Given the description of an element on the screen output the (x, y) to click on. 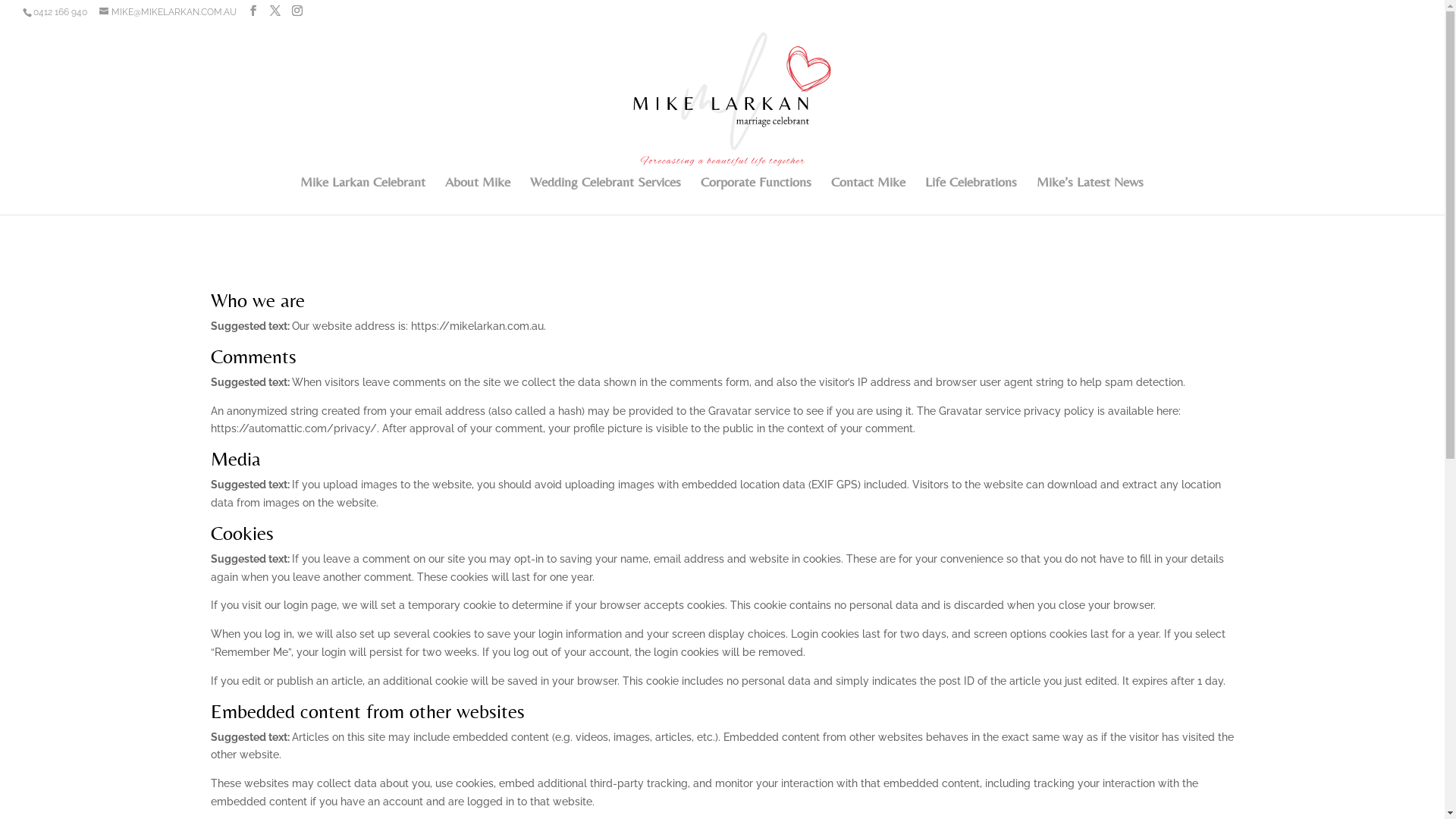
0412 166 940 Element type: text (60, 11)
MIKE@MIKELARKAN.COM.AU Element type: text (167, 11)
Contact Mike Element type: text (868, 195)
Wedding Celebrant Services Element type: text (604, 195)
Corporate Functions Element type: text (755, 195)
Life Celebrations Element type: text (970, 195)
About Mike Element type: text (476, 195)
Mike Larkan Celebrant Element type: text (362, 195)
